Given the description of an element on the screen output the (x, y) to click on. 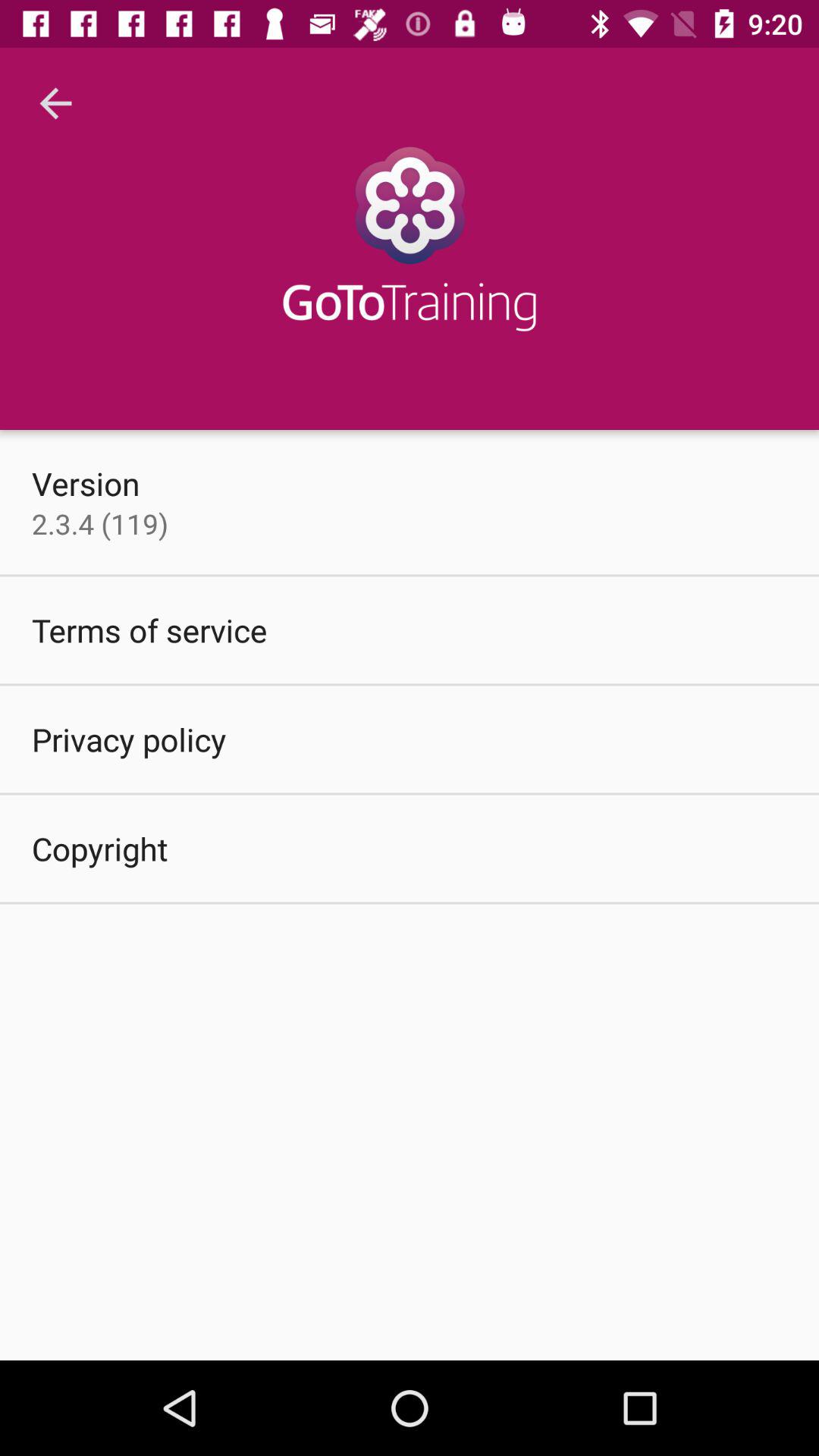
turn on terms of service (149, 629)
